Given the description of an element on the screen output the (x, y) to click on. 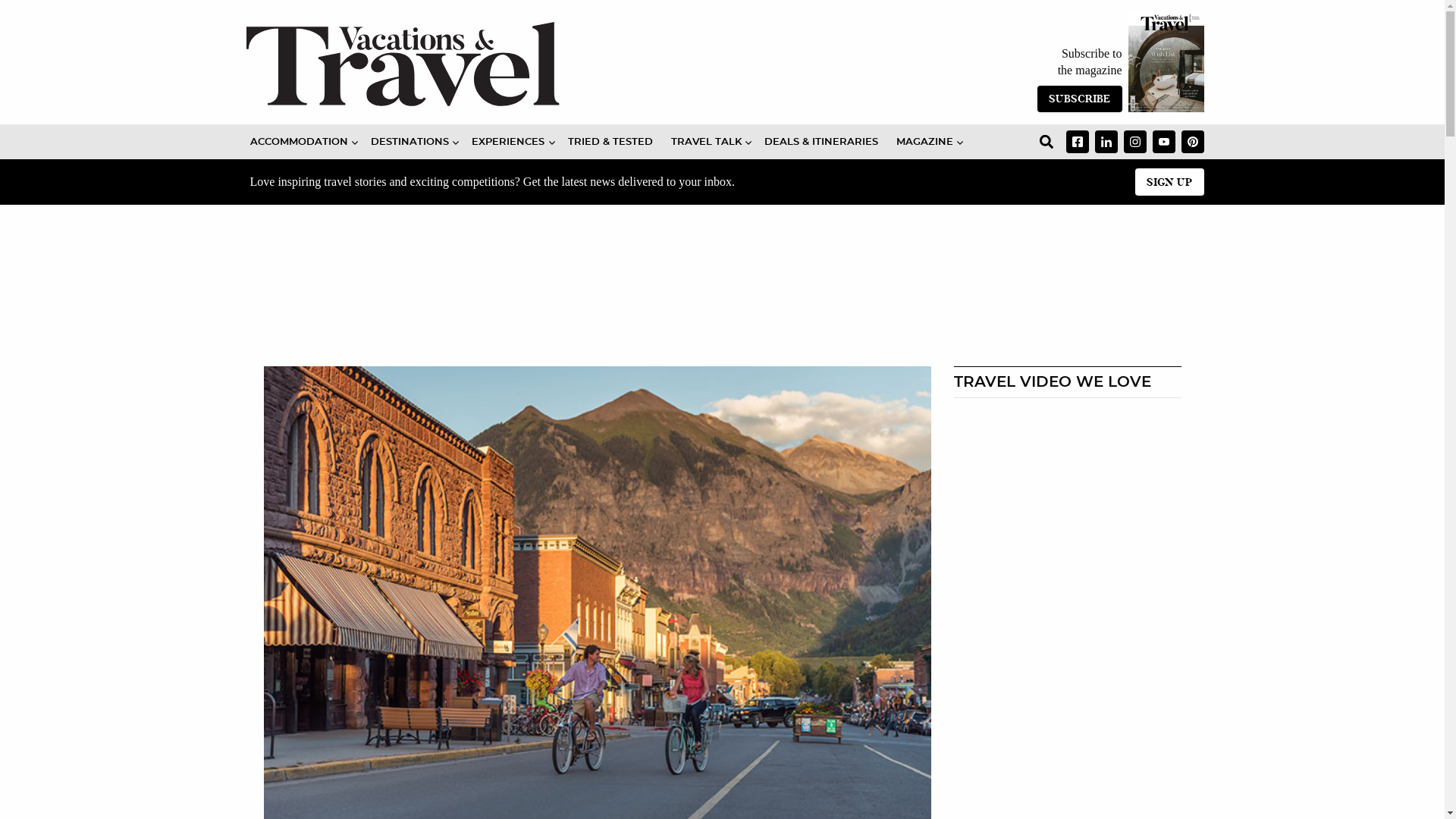
Advertisement (547, 299)
Sign Up for our Newsletter (1169, 181)
Coastal Norway - World Nomads (1066, 473)
Type and press Enter to search. (1045, 141)
